Given the description of an element on the screen output the (x, y) to click on. 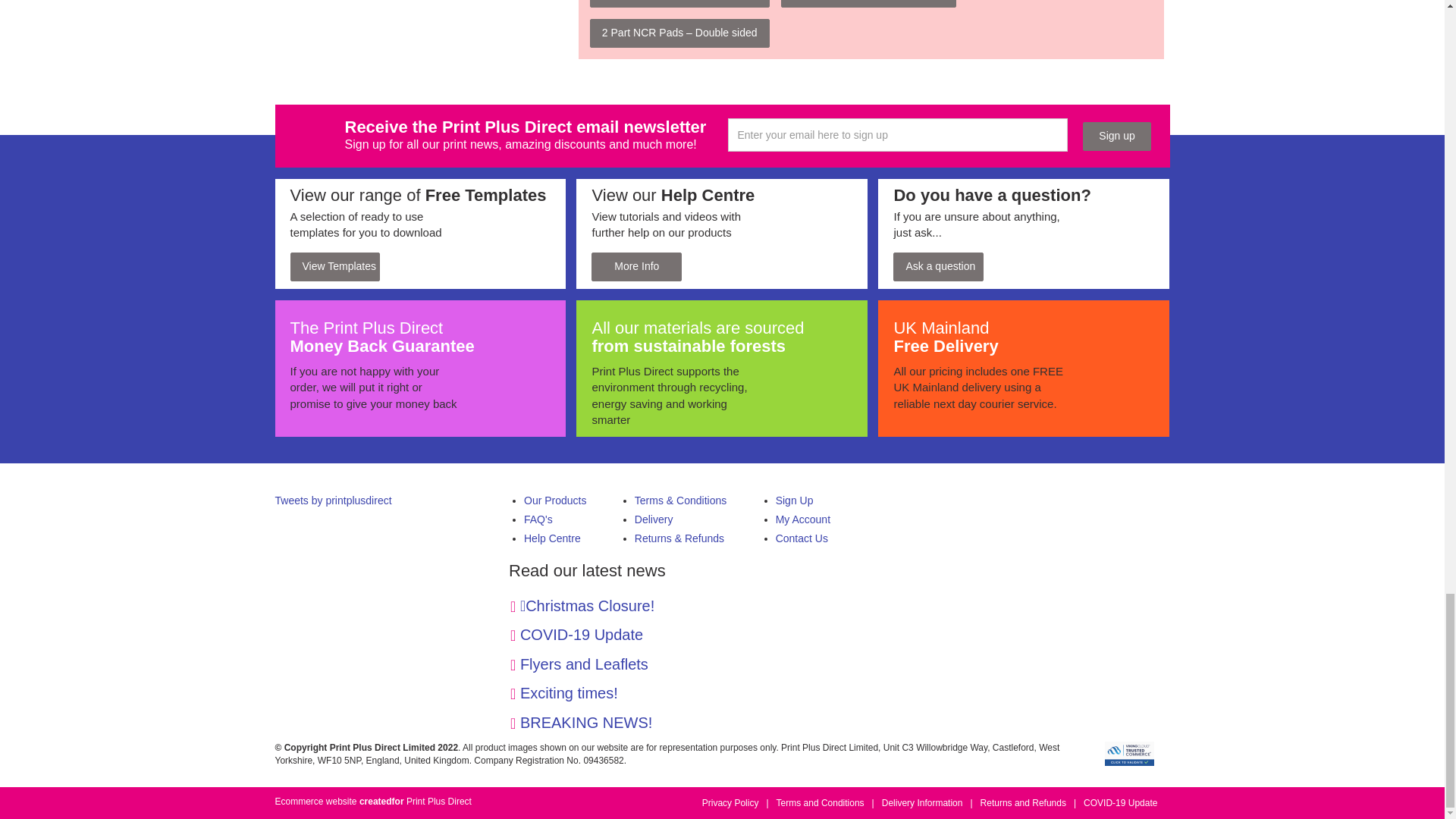
Ecommerce web design in York, Selby, and Leeds (381, 801)
Sign up (1116, 136)
